Given the description of an element on the screen output the (x, y) to click on. 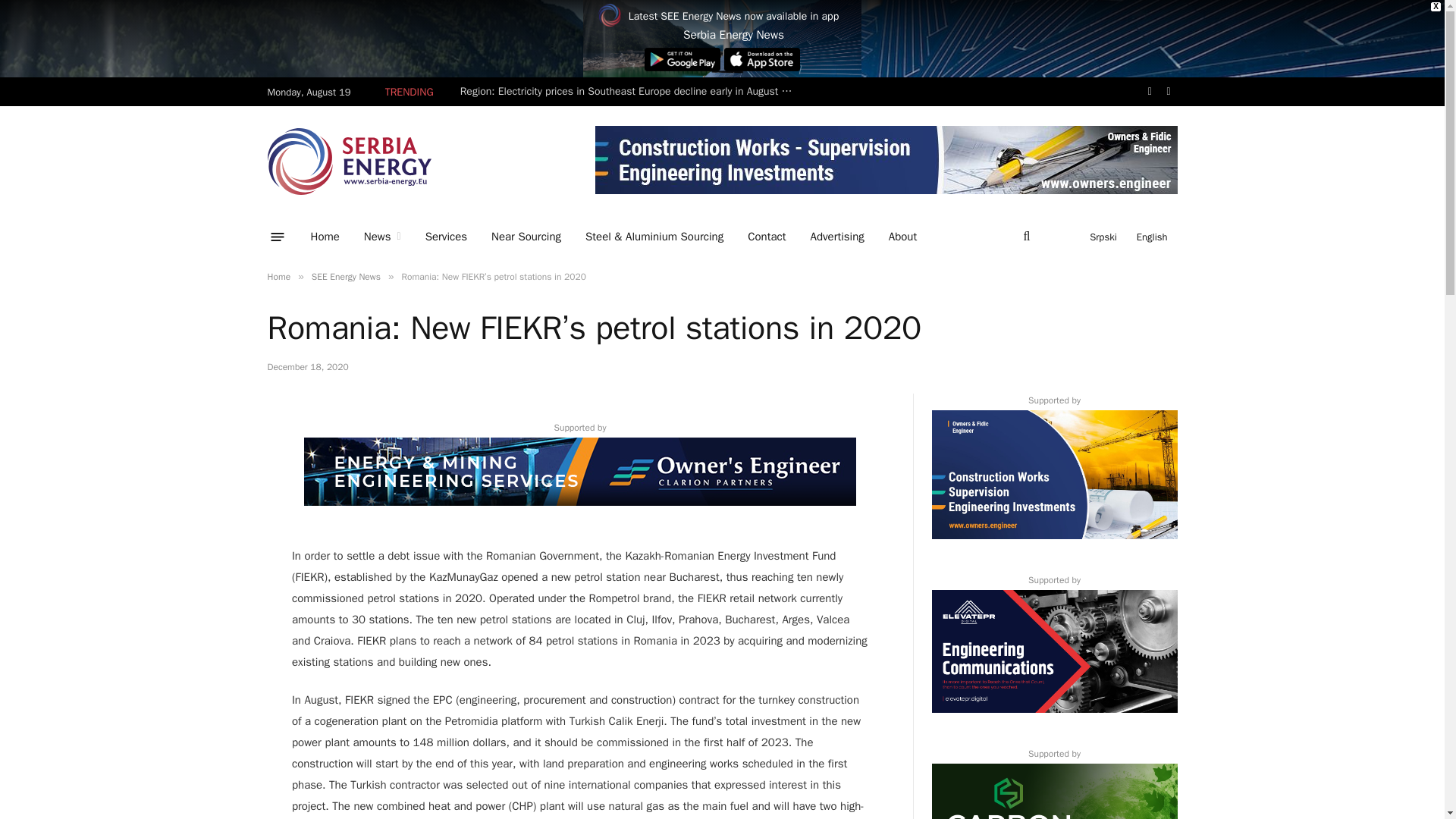
Advertising (836, 236)
Contact (766, 236)
News (382, 236)
Serbia SEE Energy Mining News (348, 161)
Home (325, 236)
Near Sourcing (526, 236)
About (902, 236)
Services (446, 236)
